Given the description of an element on the screen output the (x, y) to click on. 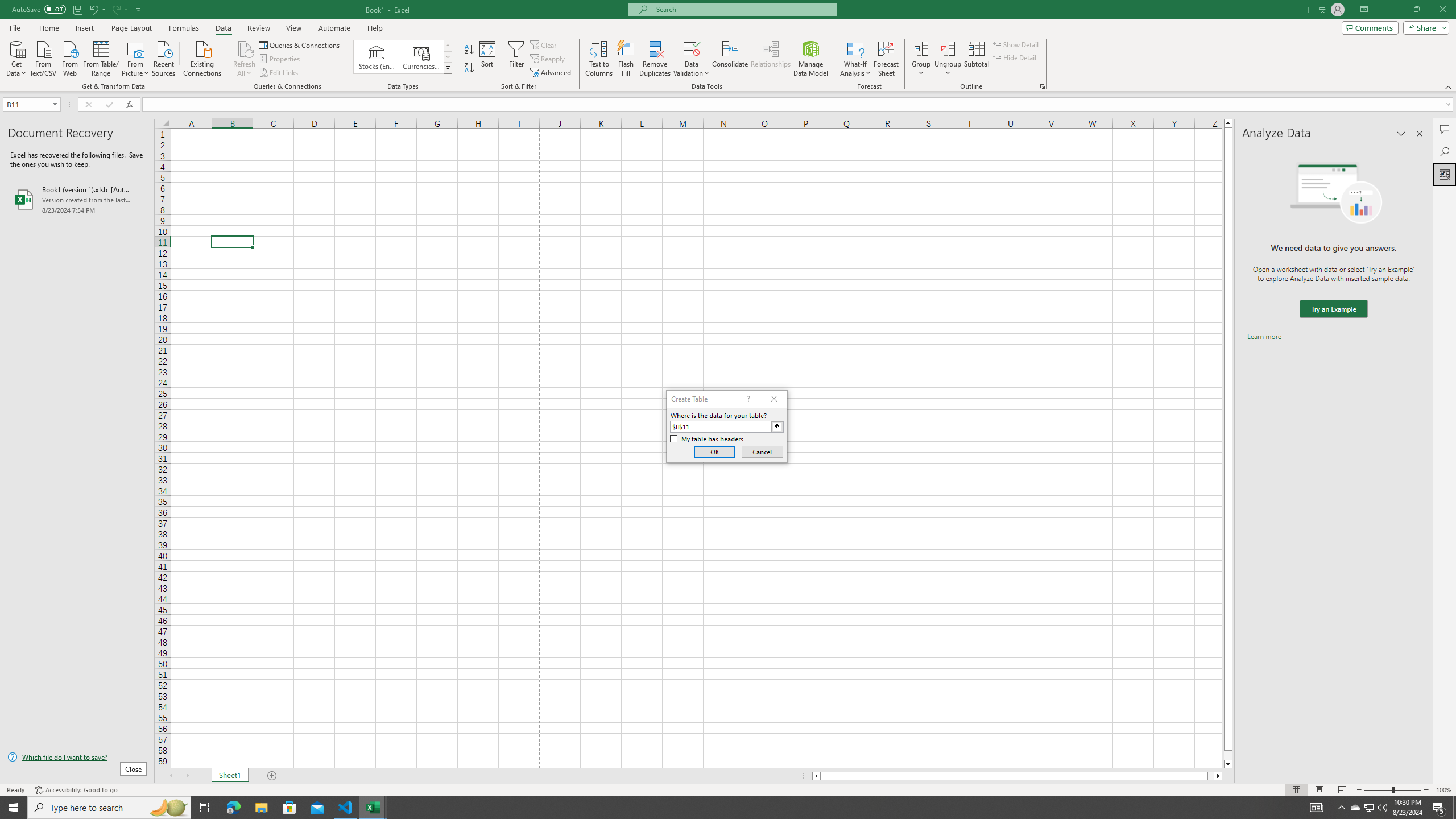
Properties (280, 58)
AutomationID: ConvertToLinkedEntity (403, 56)
Data Types (448, 67)
Filter (515, 58)
Existing Connections (202, 57)
Flash Fill (625, 58)
